Given the description of an element on the screen output the (x, y) to click on. 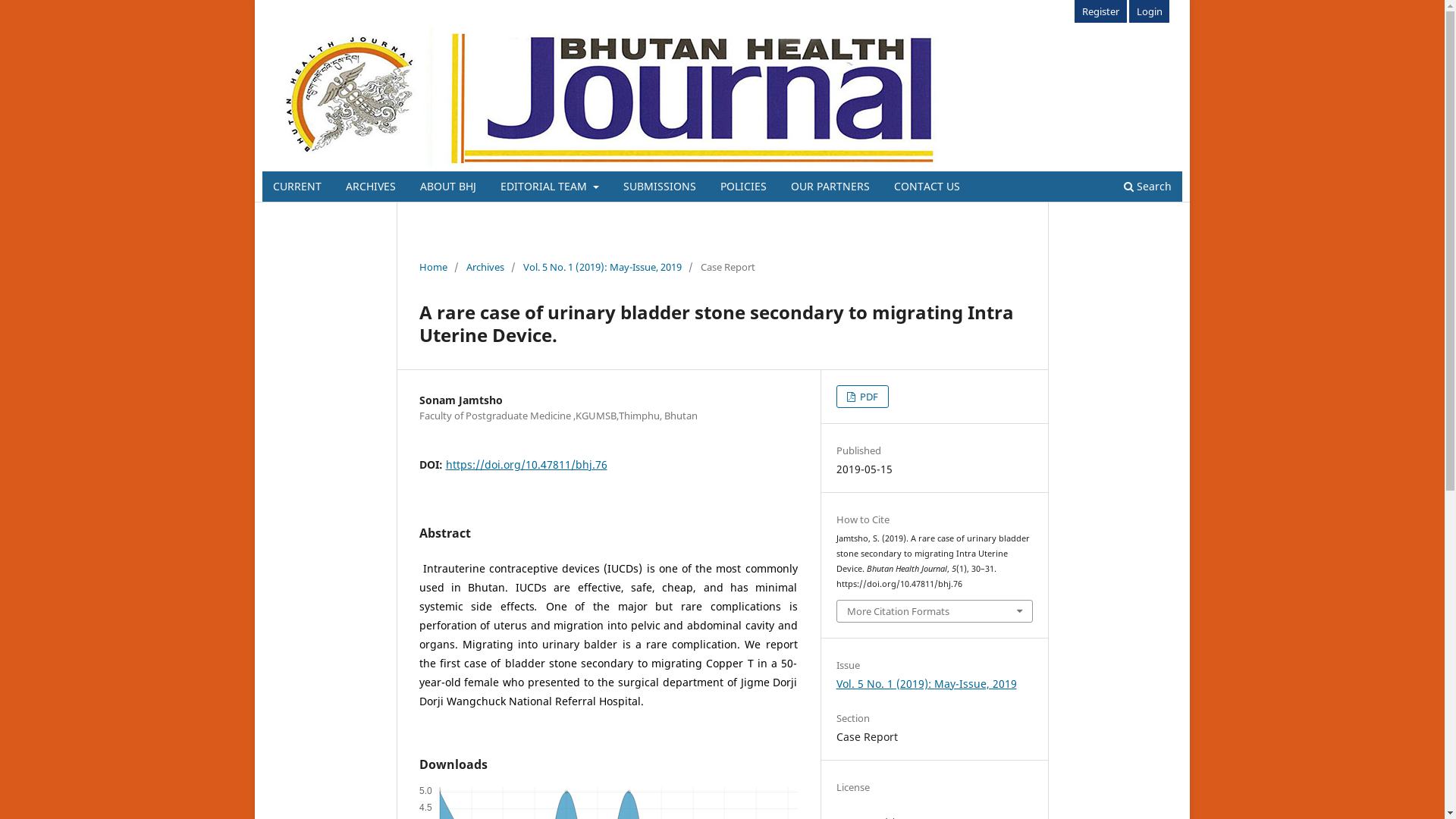
More Citation Formats Element type: text (934, 610)
Vol. 5 No. 1 (2019): May-Issue, 2019 Element type: text (602, 266)
SUBMISSIONS Element type: text (658, 188)
Register Element type: text (1100, 11)
OUR PARTNERS Element type: text (830, 188)
CURRENT Element type: text (296, 188)
Login Element type: text (1149, 11)
Archives Element type: text (484, 266)
PDF Element type: text (862, 396)
CONTACT US Element type: text (926, 188)
ABOUT BHJ Element type: text (447, 188)
ARCHIVES Element type: text (370, 188)
Vol. 5 No. 1 (2019): May-Issue, 2019 Element type: text (926, 683)
https://doi.org/10.47811/bhj.76 Element type: text (526, 464)
EDITORIAL TEAM Element type: text (549, 188)
Home Element type: text (432, 266)
POLICIES Element type: text (742, 188)
Search Element type: text (1147, 188)
